Given the description of an element on the screen output the (x, y) to click on. 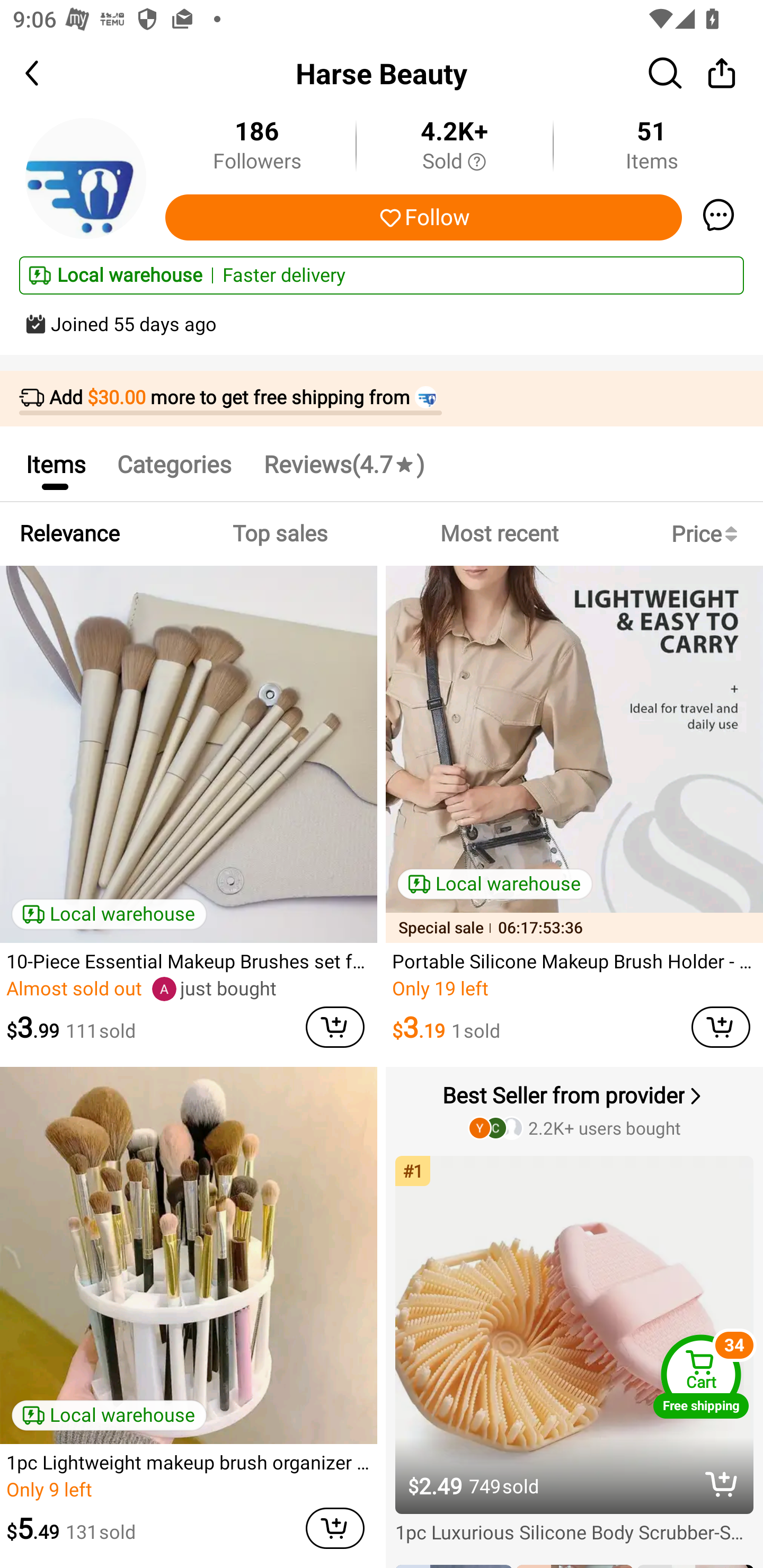
back (47, 72)
Harse Beauty (381, 72)
share (721, 72)
Sold (453, 161)
Local warehouse Faster delivery (381, 275)
 Add $30.00 more to get free shipping from  (381, 398)
Items (55, 463)
Categories (174, 463)
Reviews(4.7 ) (343, 463)
Relevance (69, 533)
Top sales (279, 533)
Most recent (498, 533)
Price (707, 533)
Best Seller from provider 2.2K+ users bought (576, 1109)
Cart Free shipping Cart (701, 1375)
delete (721, 1483)
